Given the description of an element on the screen output the (x, y) to click on. 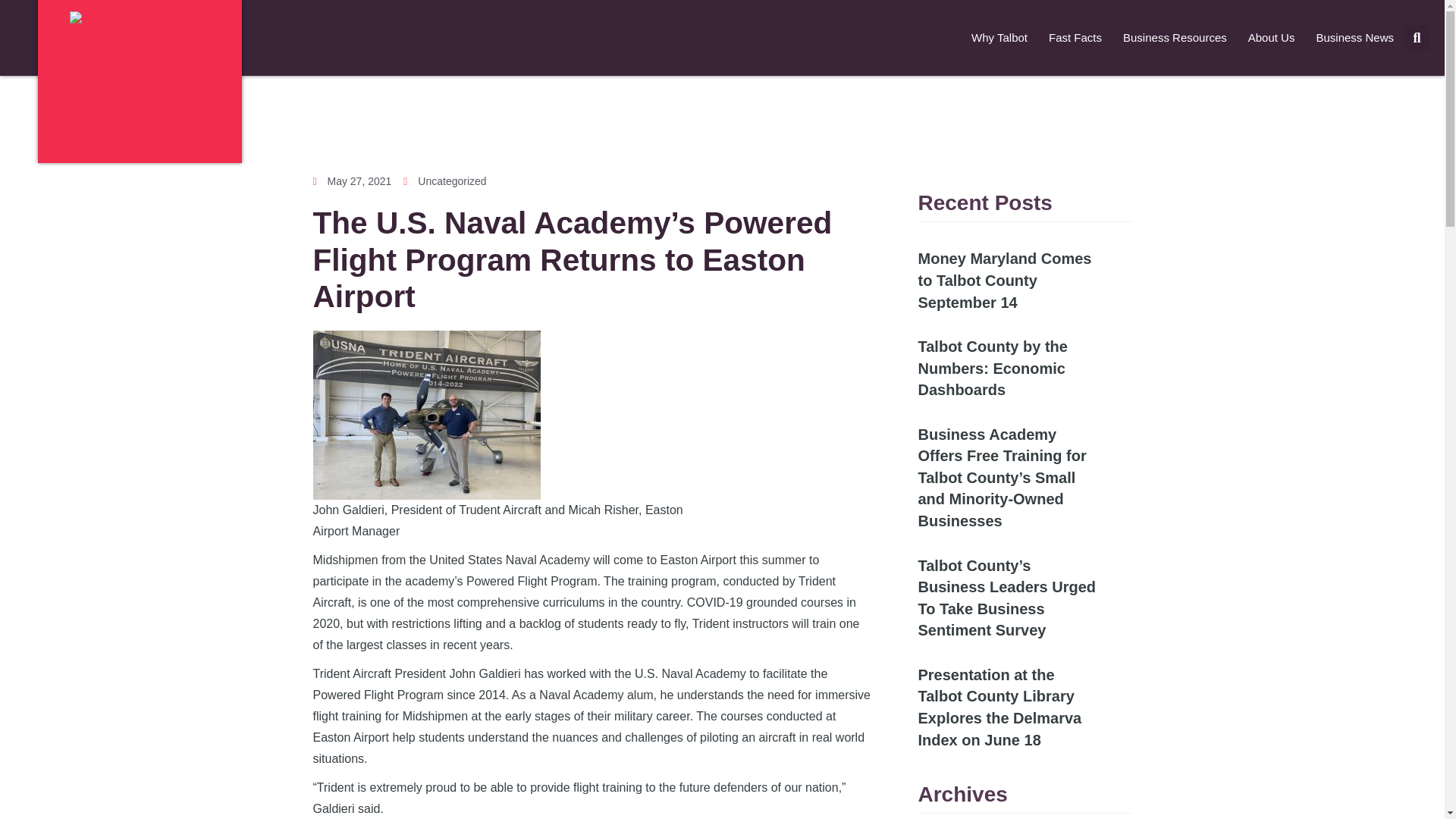
About Us (1271, 37)
Business Resources (1174, 37)
Fast Facts (1075, 37)
Why Talbot (999, 37)
Business News (1354, 37)
